Given the description of an element on the screen output the (x, y) to click on. 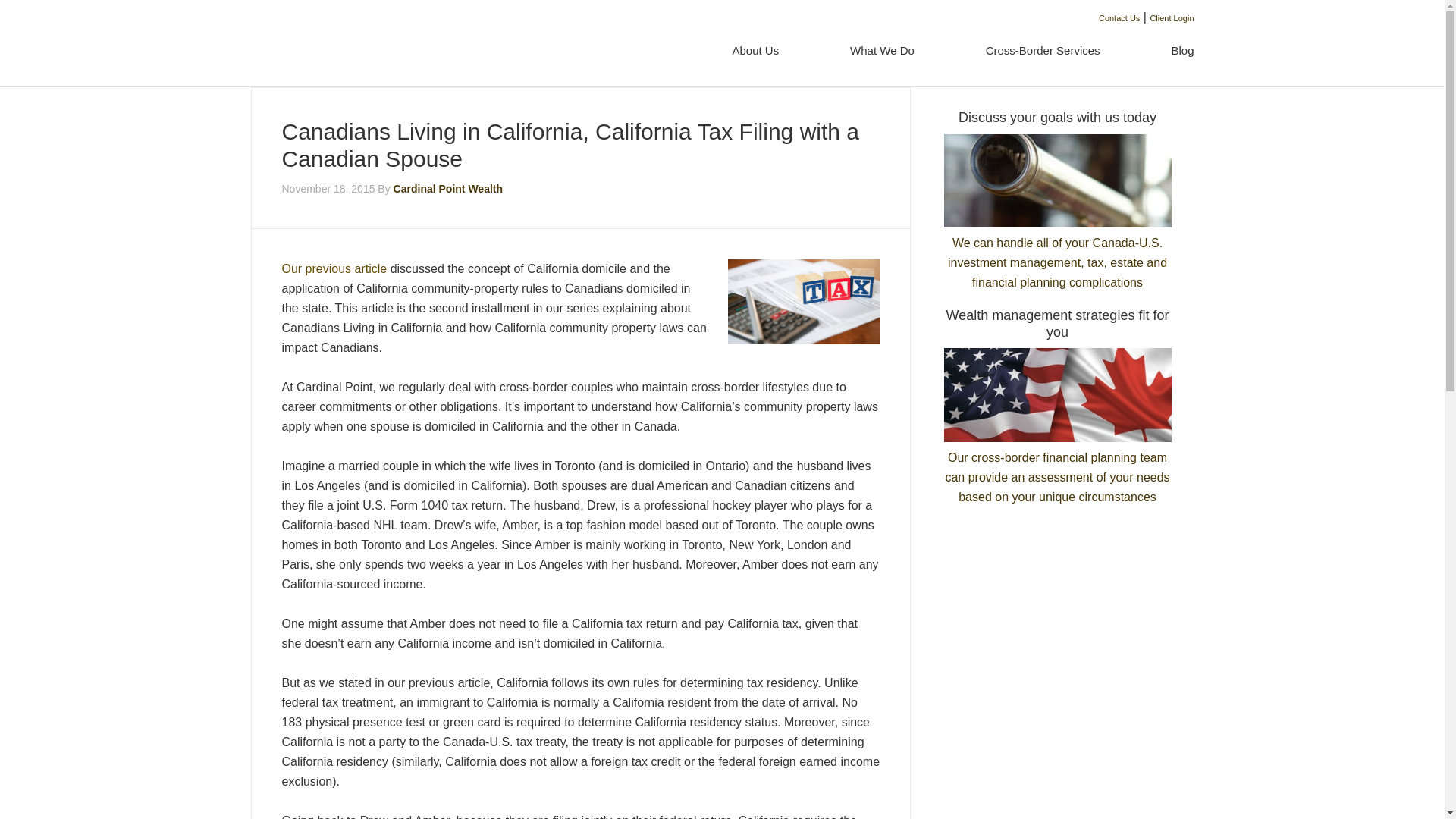
Cross-Border Services (1043, 51)
Cardinal Point Wealth Management (339, 45)
Blog (1165, 51)
Contact Us (1119, 17)
About Us (754, 51)
Client Login (1171, 17)
What We Do (882, 51)
